Given the description of an element on the screen output the (x, y) to click on. 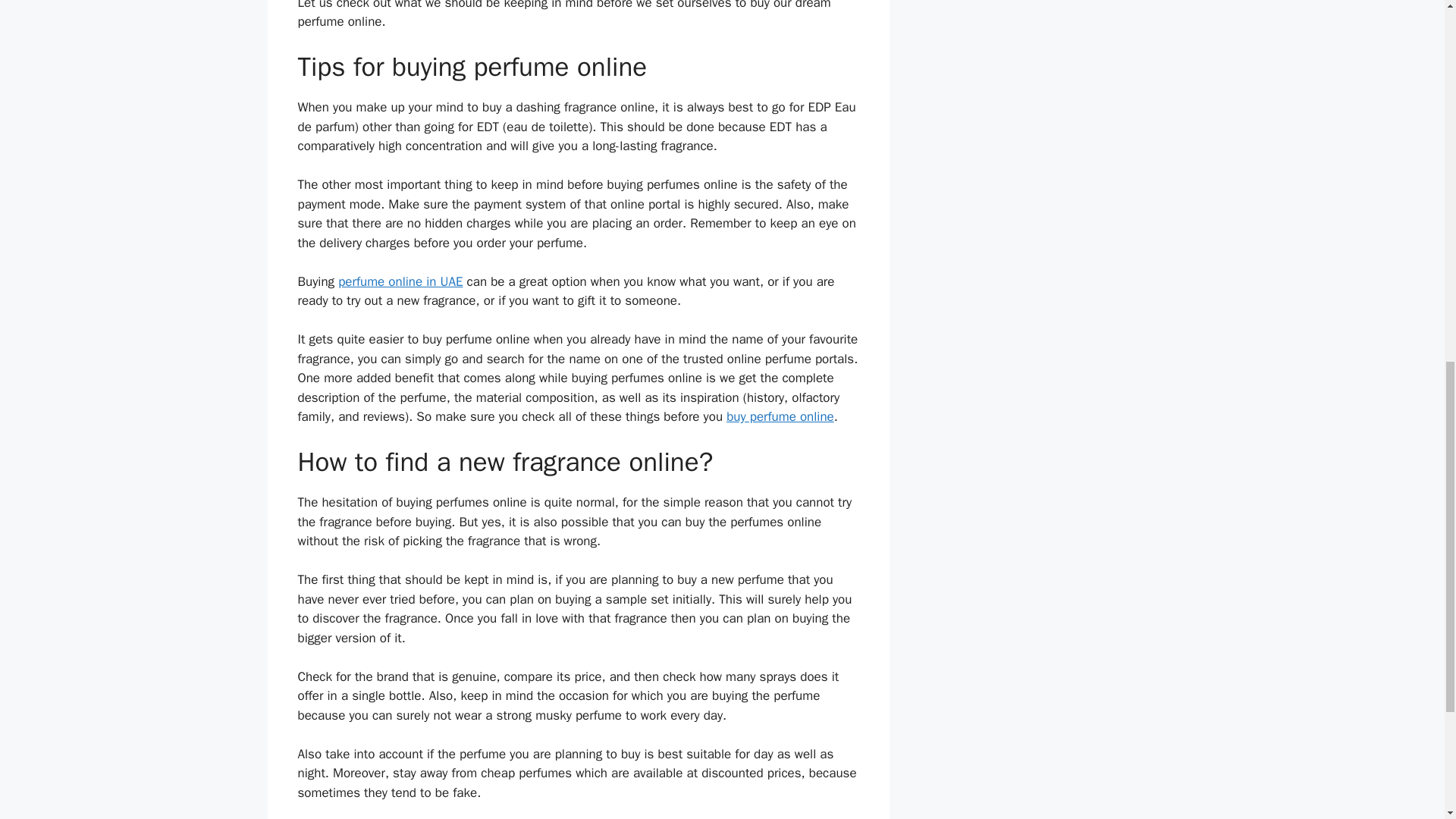
Scroll back to top (1406, 720)
buy perfume online (780, 416)
perfume online in UAE (400, 281)
